Given the description of an element on the screen output the (x, y) to click on. 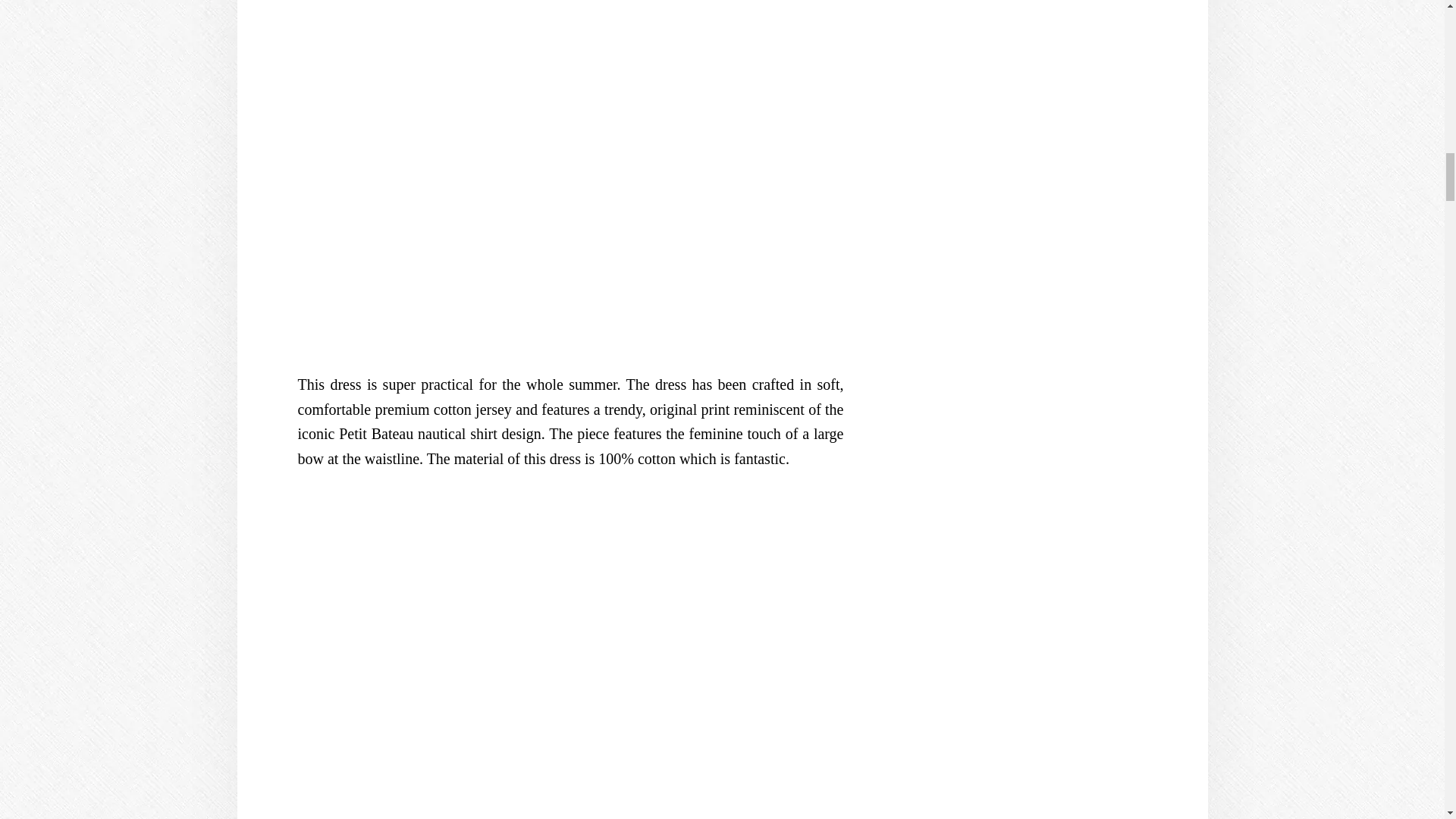
BritMums (1025, 2)
BritMums (1024, 448)
Tots100 (1024, 615)
